Given the description of an element on the screen output the (x, y) to click on. 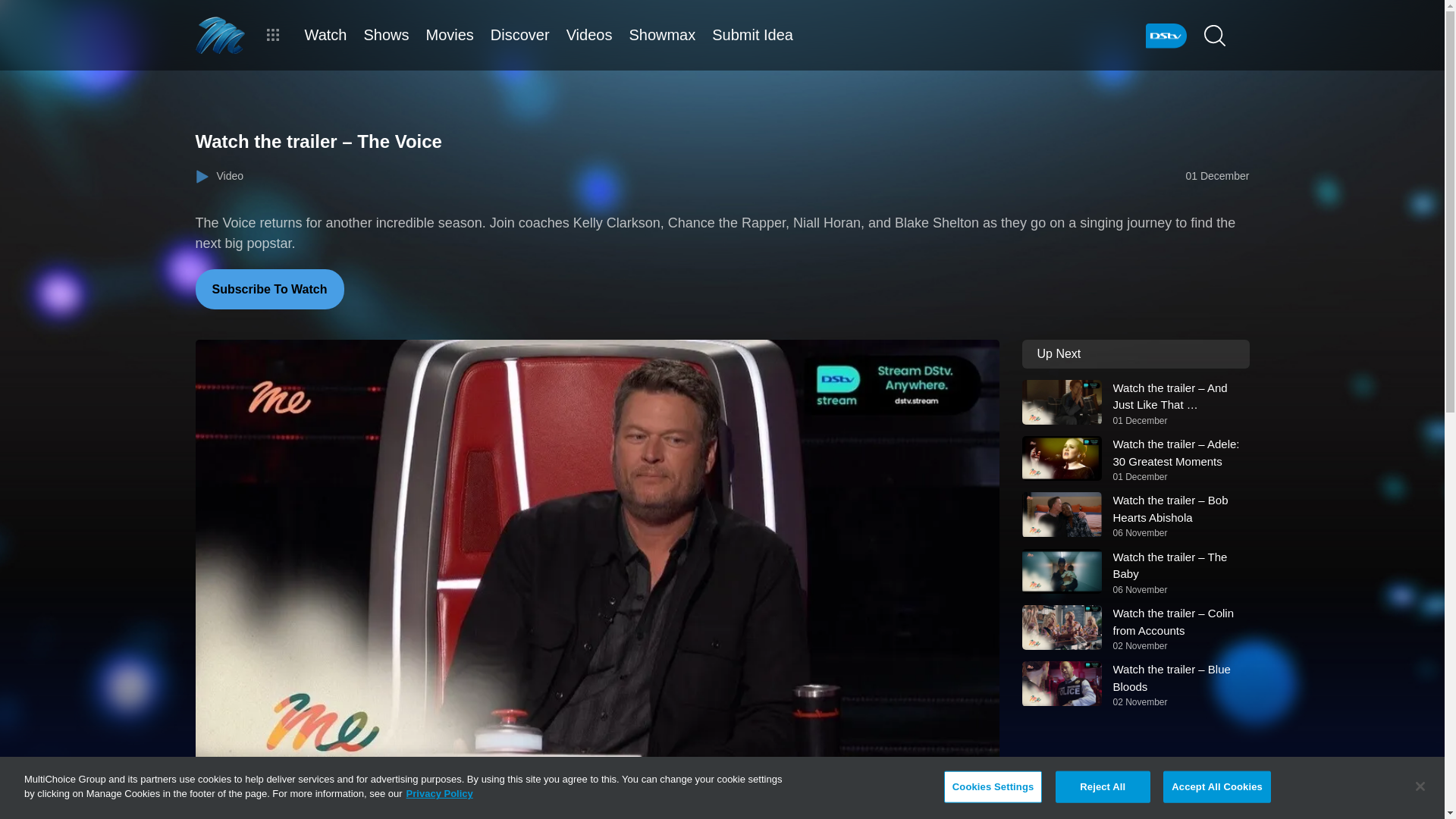
Subscribe To Watch (269, 289)
